Given the description of an element on the screen output the (x, y) to click on. 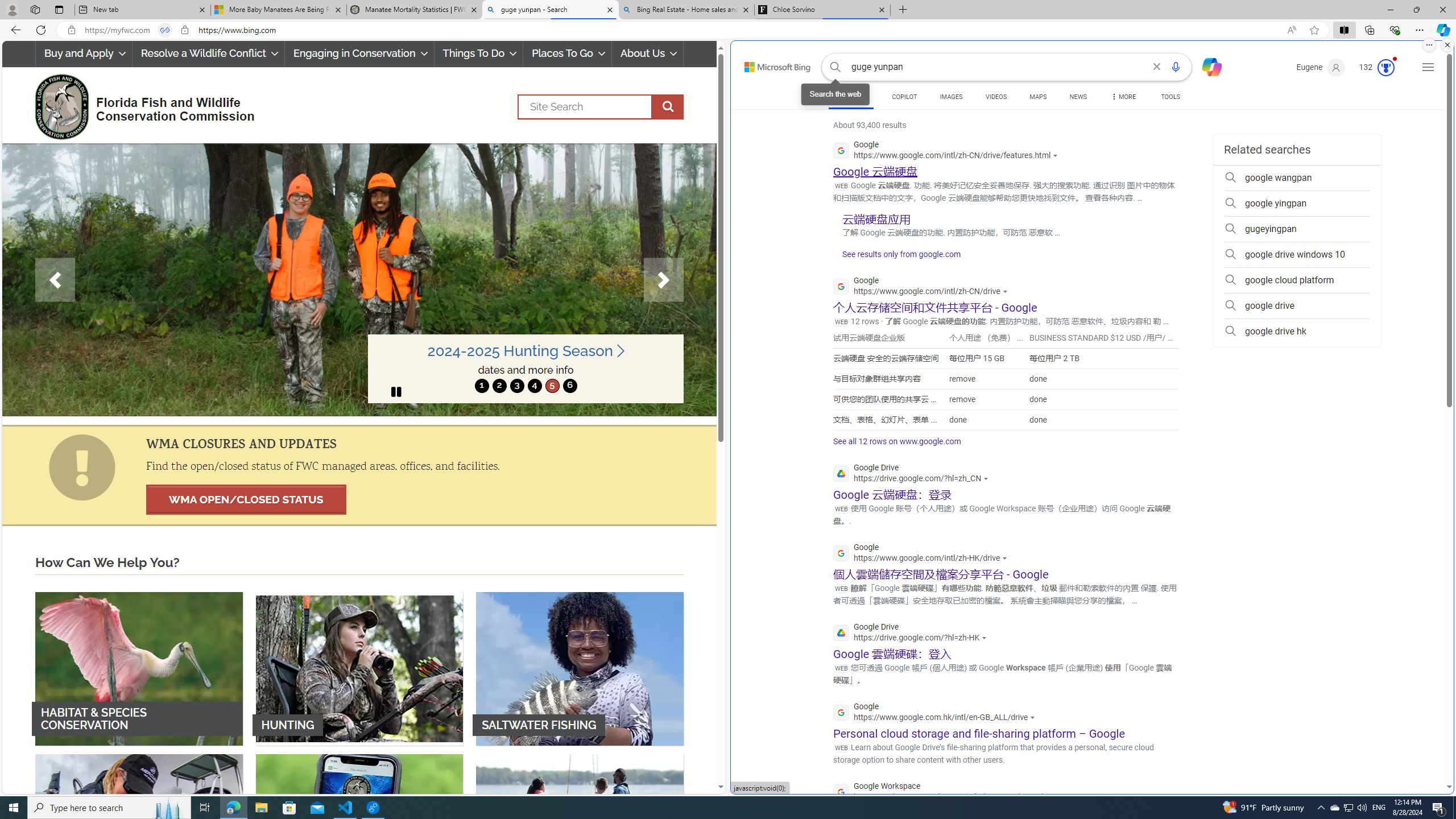
Engaging in Conservation (358, 53)
Search more (1423, 753)
Places To Go (566, 53)
Manatee Mortality Statistics | FWC (414, 9)
Back to Bing search (770, 64)
Things To Do (477, 53)
Microsoft Rewards 123 (1377, 67)
2024-2025 Hunting Season  (525, 351)
gugeyingpan (1297, 229)
google yingpan (1297, 203)
